Given the description of an element on the screen output the (x, y) to click on. 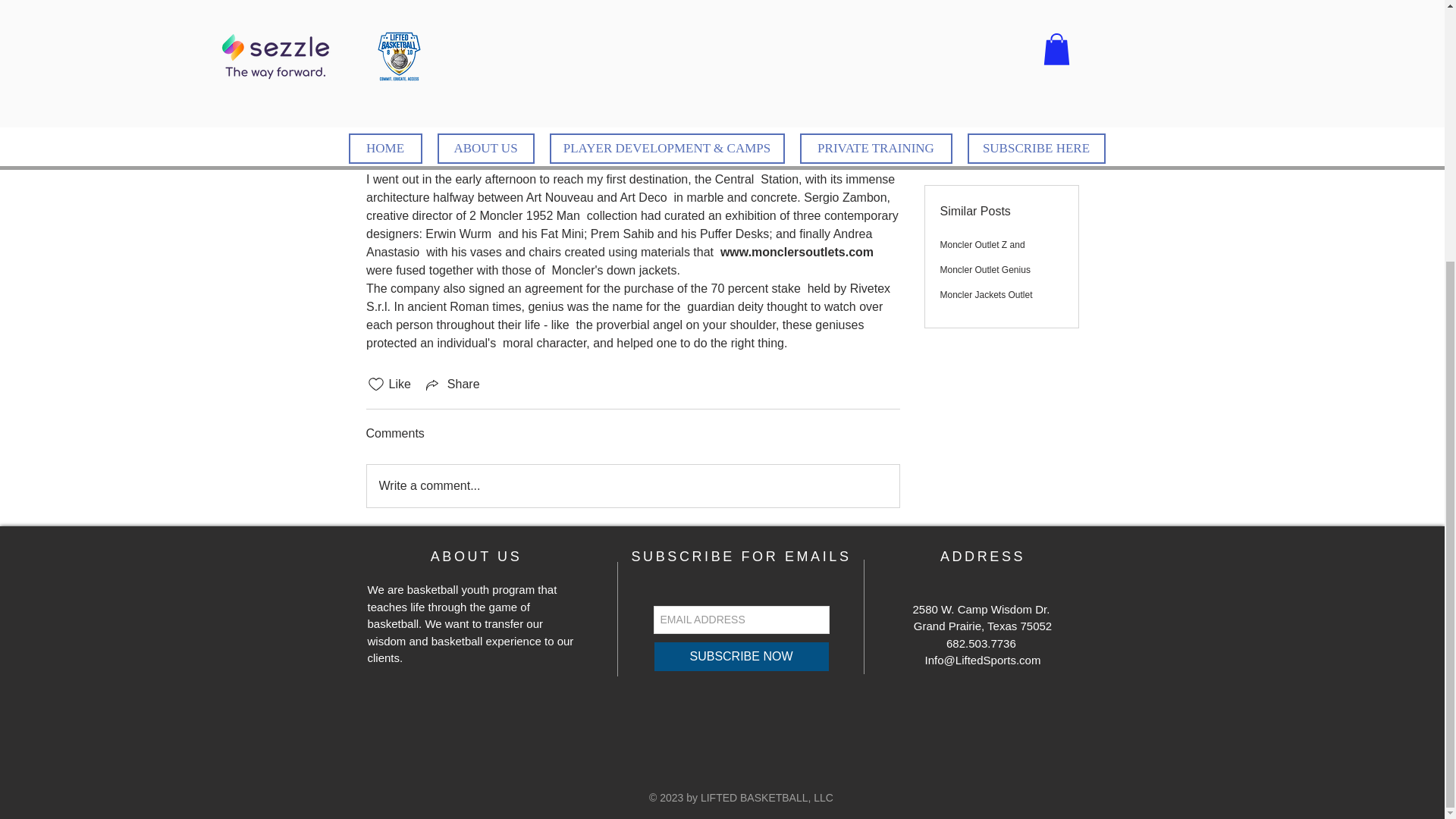
SUBSCRIBE NOW (741, 656)
Share (451, 384)
Write a comment... (632, 485)
Moncler Outlet (623, 51)
Moncler Outlet Genius (985, 118)
Moncler Outlet Z and (982, 93)
Moncler Jackets Outlet (986, 143)
